Given the description of an element on the screen output the (x, y) to click on. 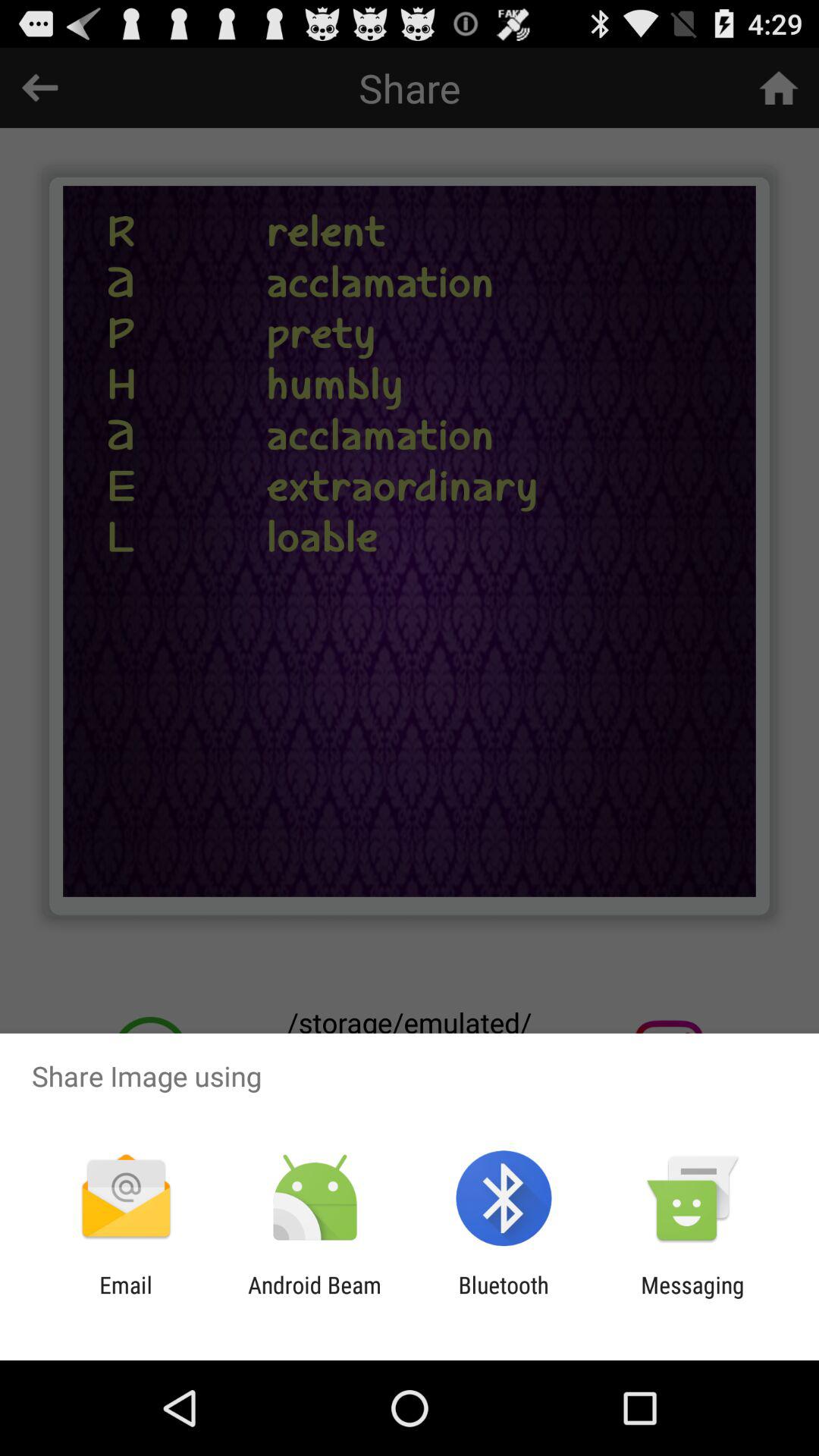
tap the icon to the right of android beam (503, 1298)
